Given the description of an element on the screen output the (x, y) to click on. 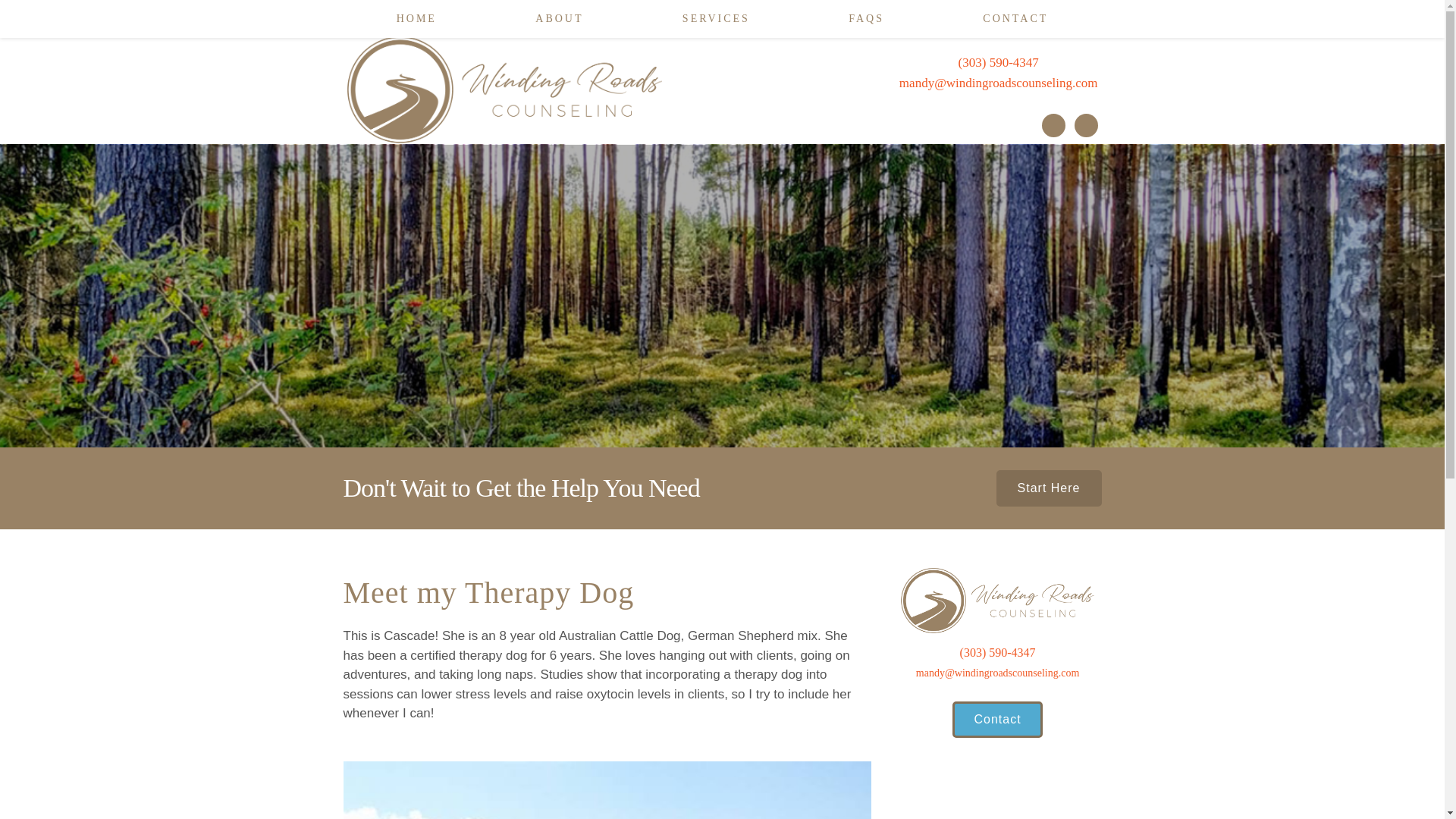
CONTACT (1015, 18)
FAQS (866, 18)
SERVICES (716, 18)
ABOUT (559, 18)
HOME (416, 18)
Start Here (1048, 488)
